Given the description of an element on the screen output the (x, y) to click on. 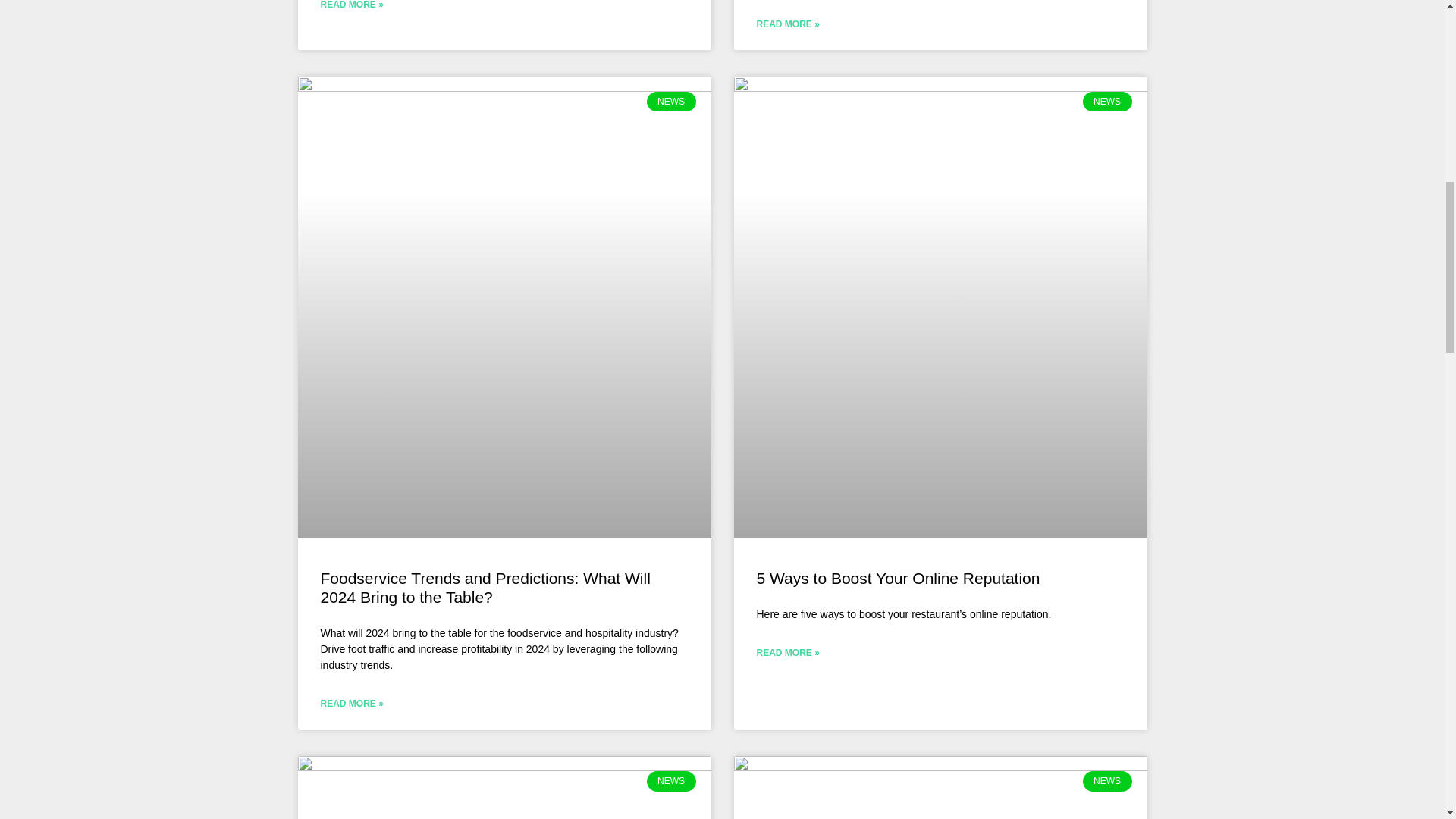
5 Ways to Boost Your Online Reputation (899, 578)
